Given the description of an element on the screen output the (x, y) to click on. 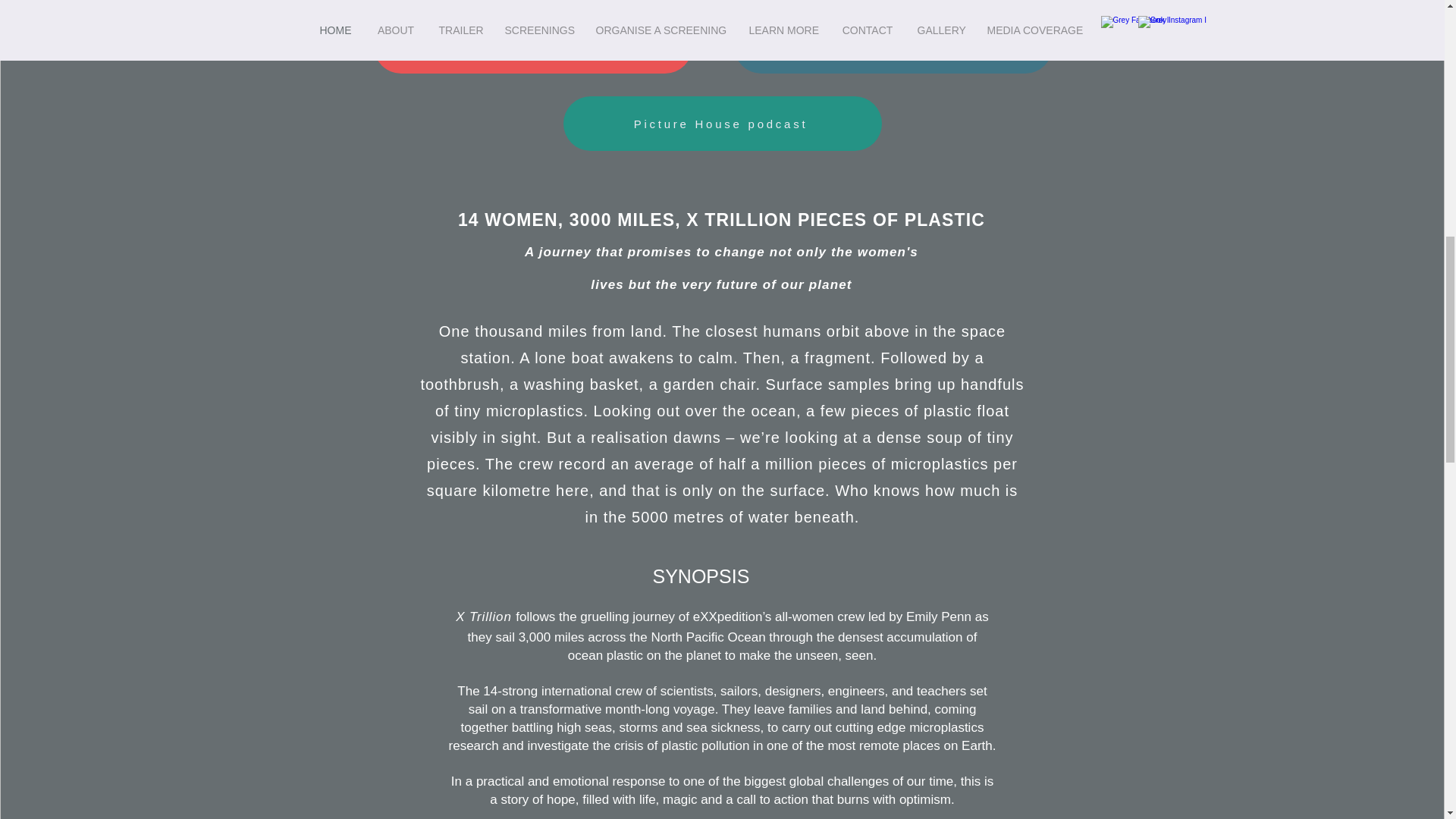
Picture House podcast (721, 123)
X Trillion on BBC Woman's Hour (531, 45)
X Trillion on The Guilty Feminist (892, 45)
